Given the description of an element on the screen output the (x, y) to click on. 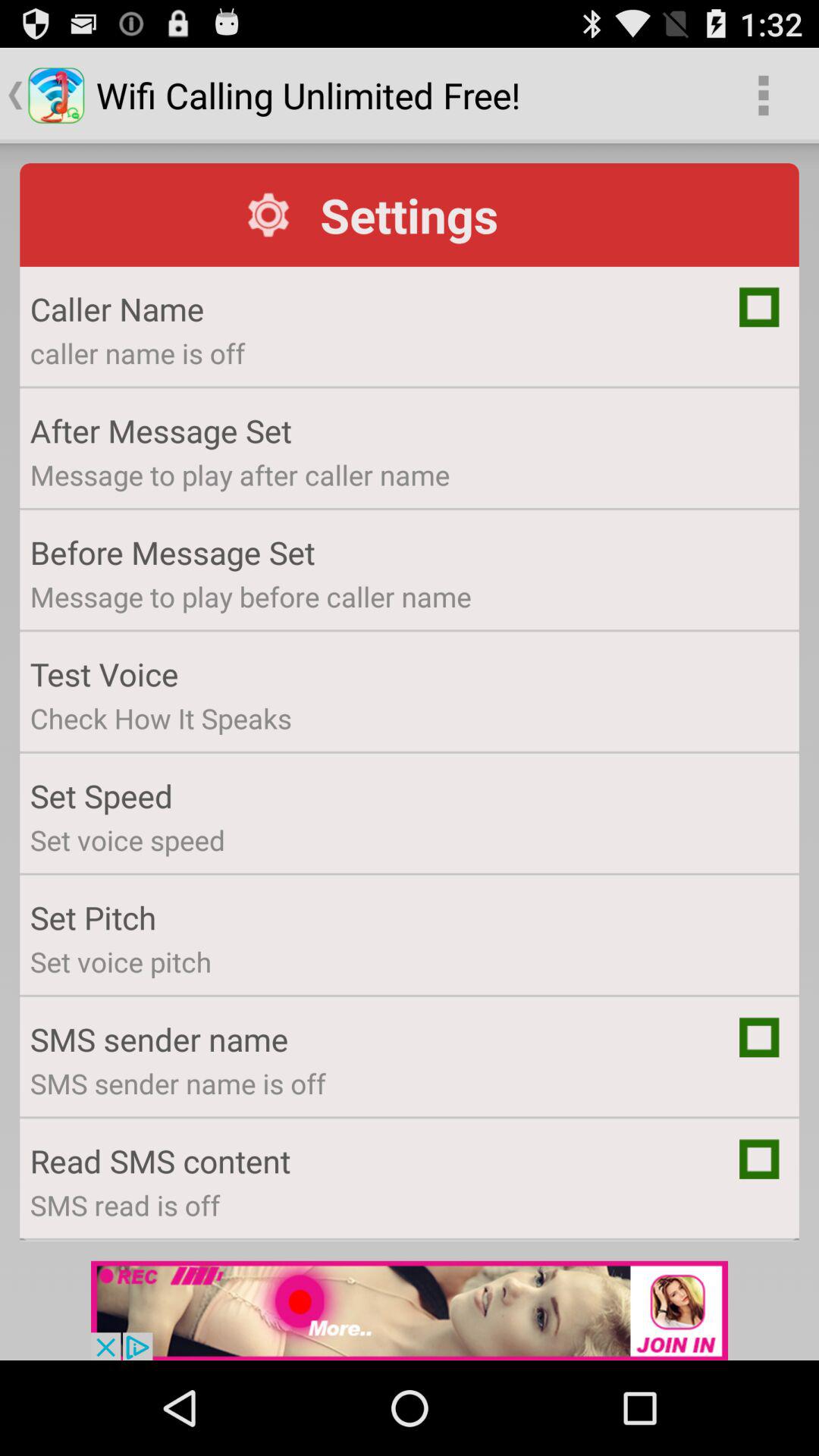
check the box (759, 1037)
